Given the description of an element on the screen output the (x, y) to click on. 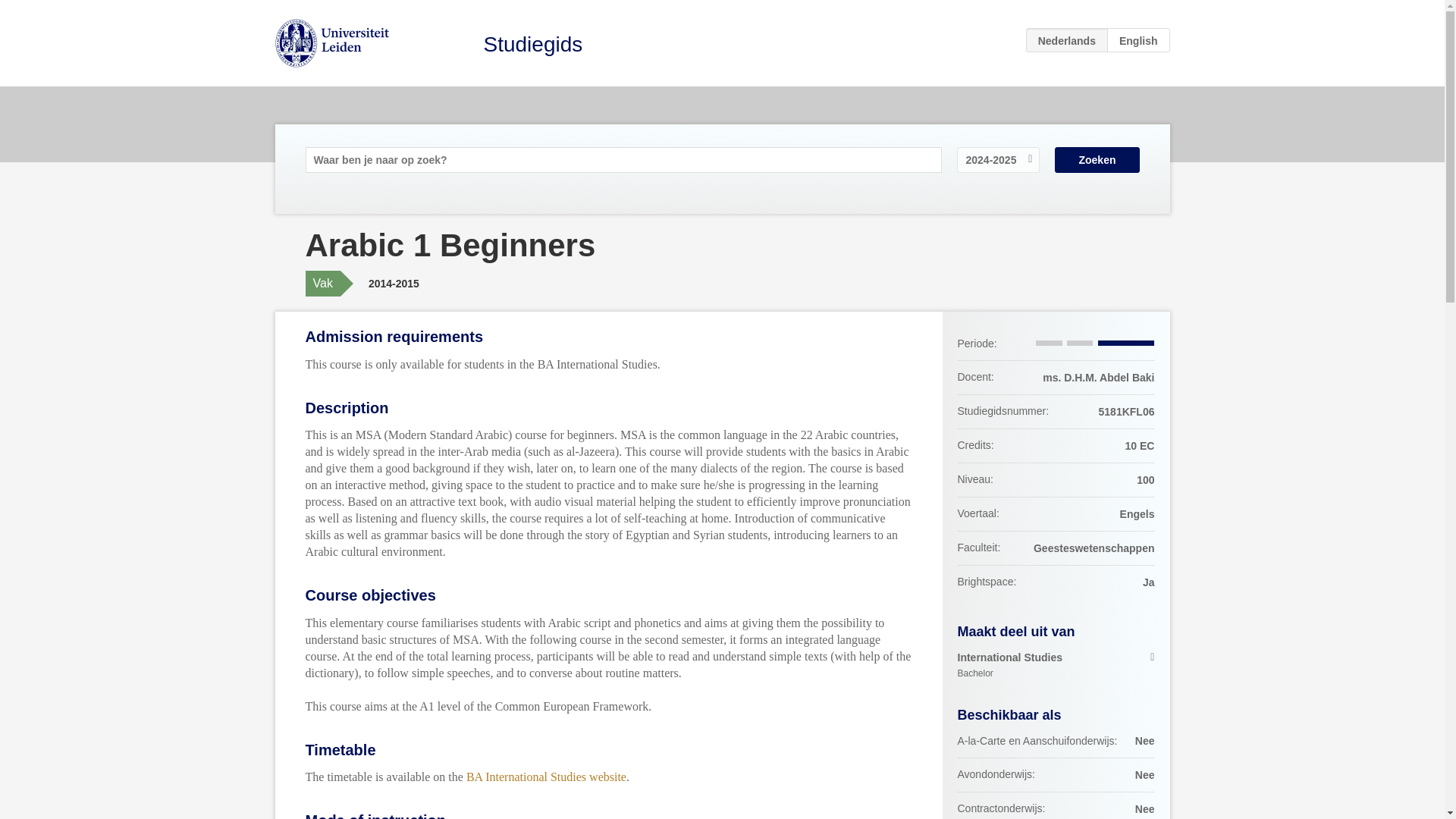
Zoeken (1055, 665)
EN (1096, 159)
BA International Studies website (1138, 39)
Studiegids (545, 776)
